Given the description of an element on the screen output the (x, y) to click on. 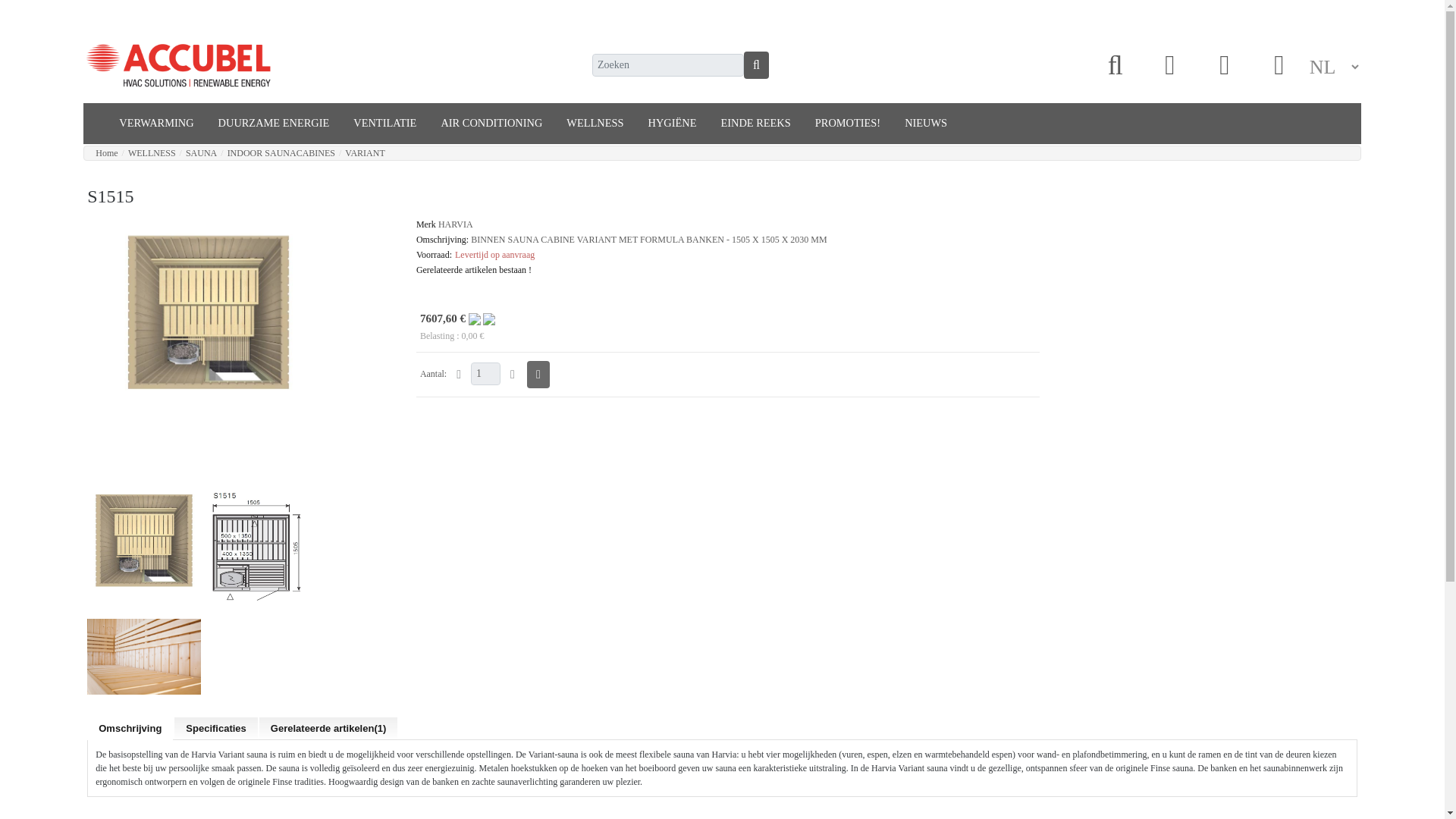
SAUNA (201, 153)
NIEUWS (925, 123)
AIR CONDITIONING (491, 123)
Geavanceerd zoeken (1114, 64)
VENTILATIE (384, 123)
Omschrijving (130, 728)
Inloggen (1169, 64)
Mijn winkelwagen (1224, 64)
Gerelateerde artikelen bestaan ! (473, 269)
1 (485, 373)
WELLNESS (594, 123)
Specificaties (215, 728)
EINDE REEKS (754, 123)
VERWARMING (155, 123)
Home (106, 153)
